Given the description of an element on the screen output the (x, y) to click on. 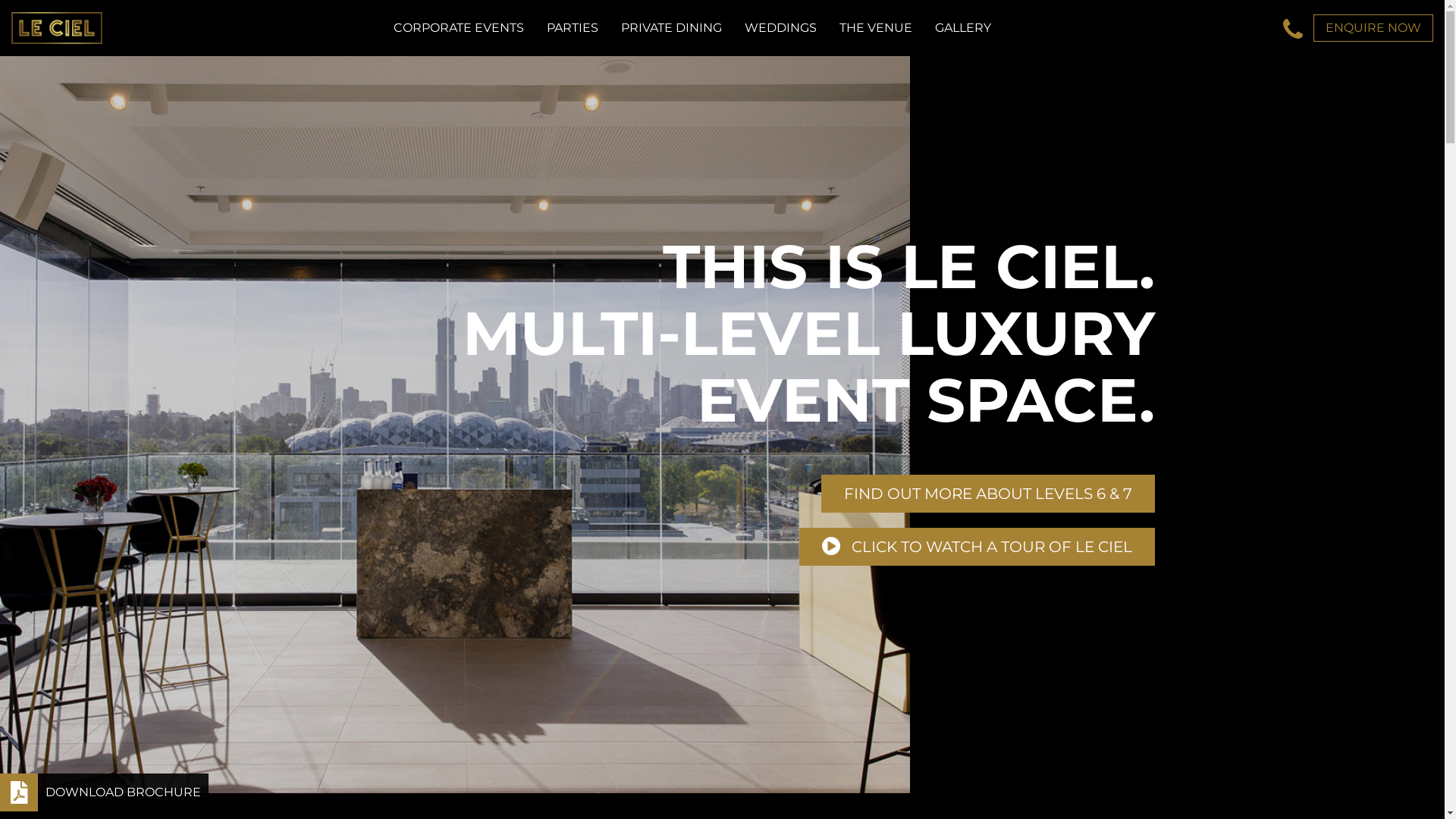
PARTIES Element type: text (572, 27)
CORPORATE EVENTS Element type: text (458, 27)
FIND OUT MORE ABOUT LEVELS 6 & 7 Element type: text (987, 493)
DOWNLOAD BROCHURE Element type: text (104, 792)
CLICK TO WATCH A TOUR OF LE CIEL Element type: text (976, 546)
PRIVATE DINING Element type: text (671, 27)
THE VENUE Element type: text (875, 27)
GALLERY Element type: text (962, 27)
WEDDINGS Element type: text (780, 27)
ENQUIRE NOW Element type: text (1373, 27)
